Given the description of an element on the screen output the (x, y) to click on. 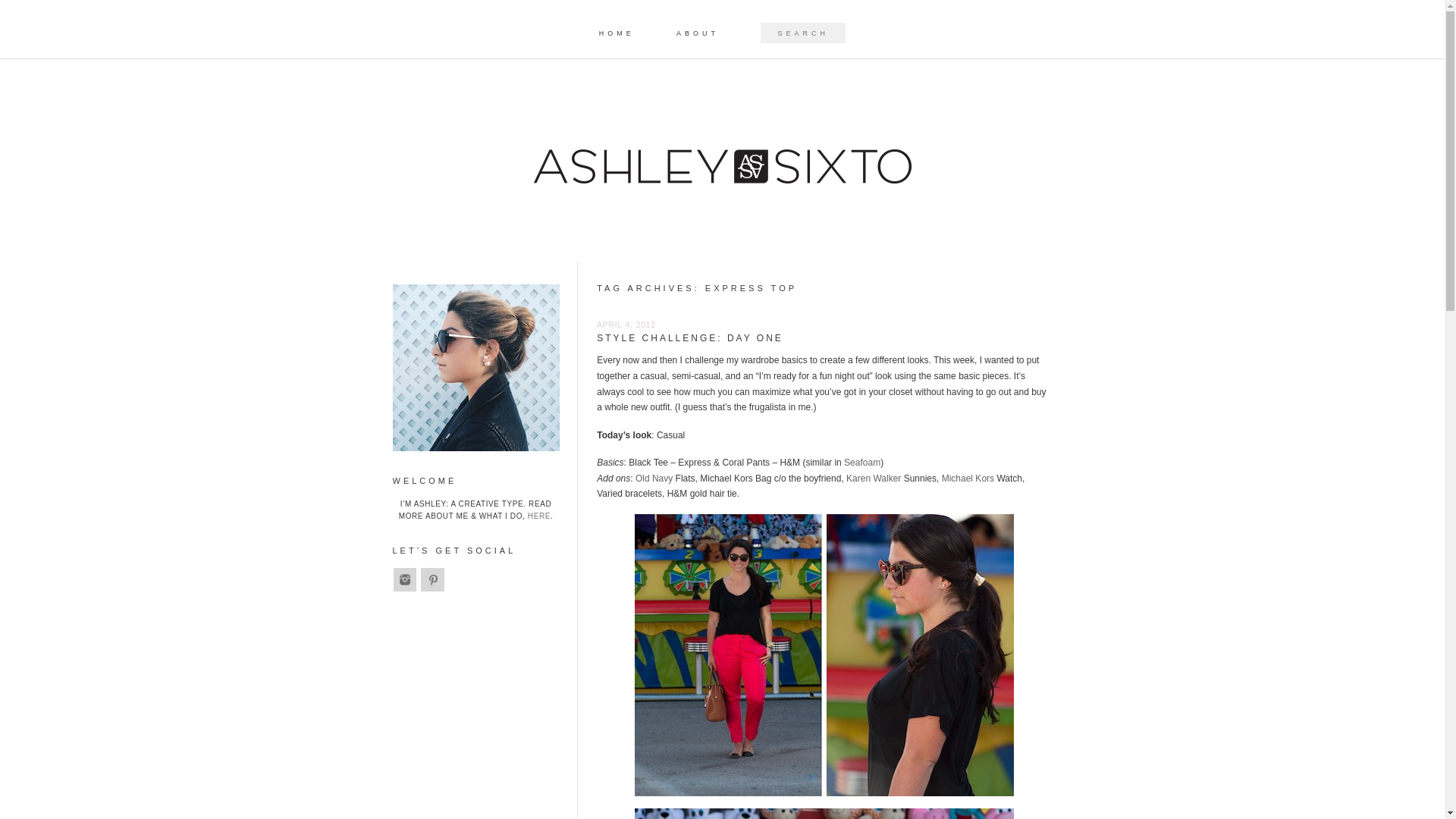
HOME (616, 33)
Untitled-2 (823, 655)
Skip to content (751, 26)
Skip to content (751, 26)
ABOUT (698, 33)
Karen Walker (873, 478)
HERE (538, 515)
STYLE CHALLENGE: DAY ONE (689, 337)
Seafoam (862, 462)
Old Navy (653, 478)
Michael Kors (968, 478)
SEARCH (25, 11)
